Given the description of an element on the screen output the (x, y) to click on. 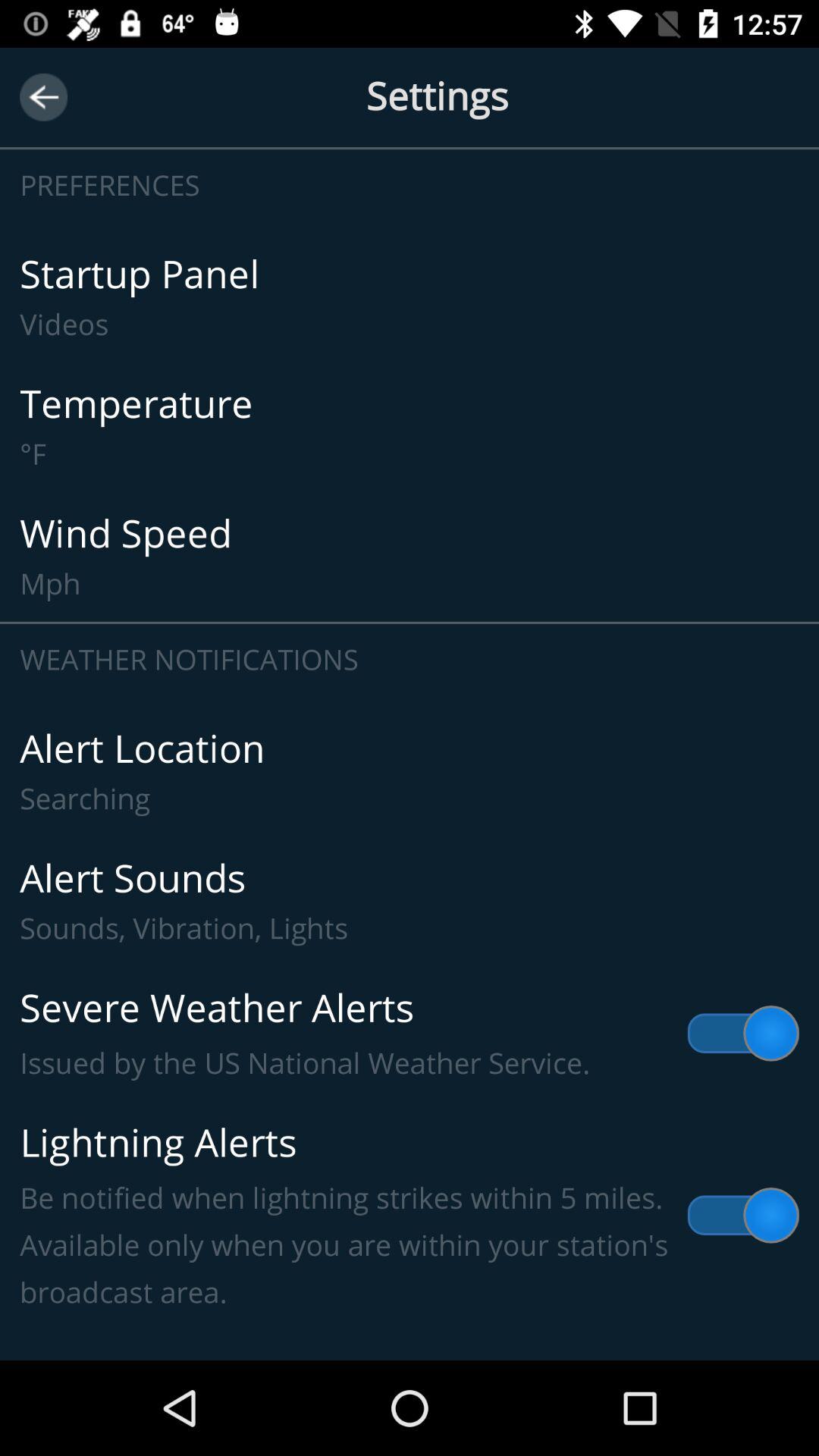
go to settings (409, 97)
